Given the description of an element on the screen output the (x, y) to click on. 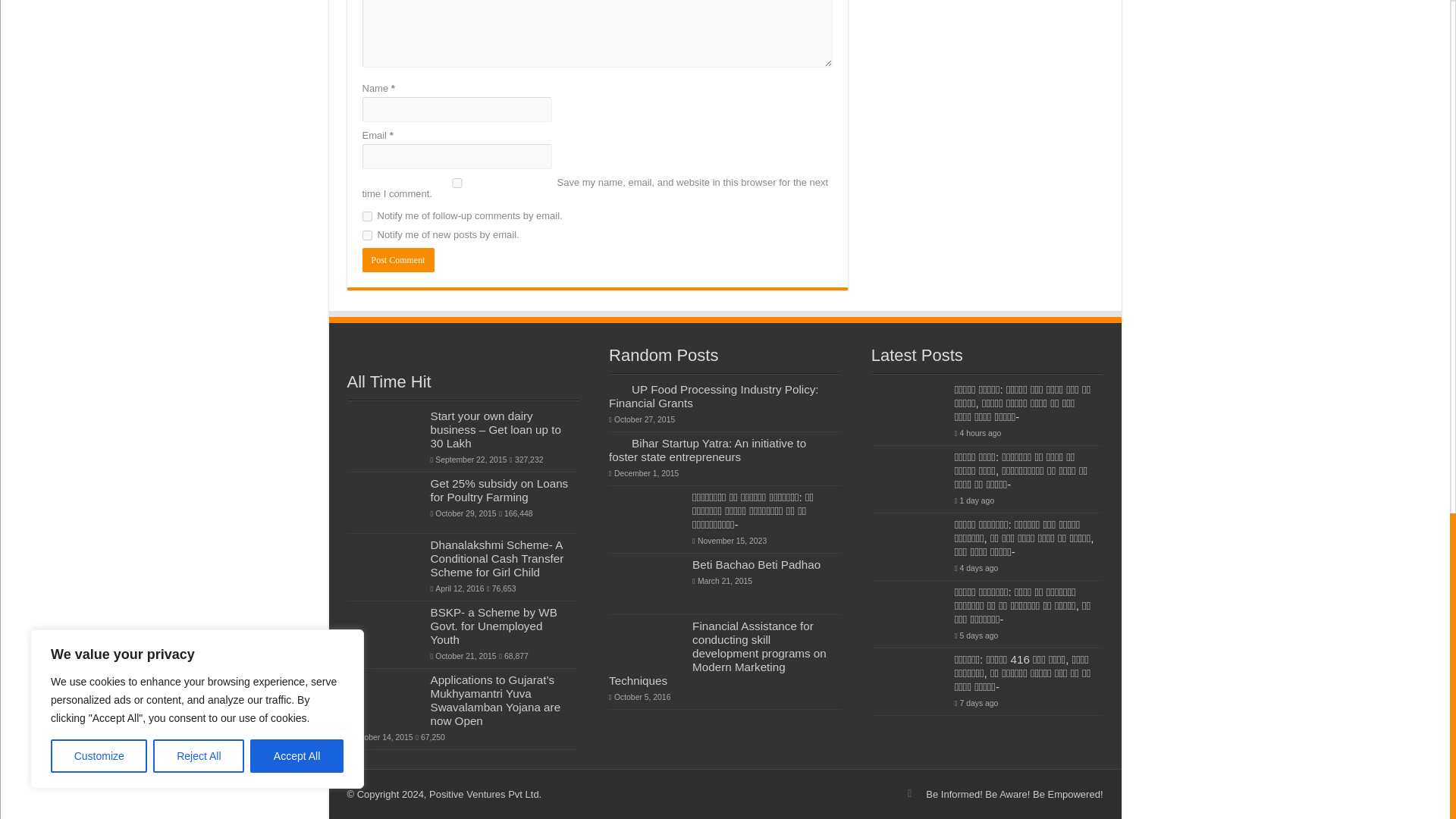
yes (456, 183)
Post Comment (397, 259)
subscribe (367, 216)
subscribe (367, 235)
